Given the description of an element on the screen output the (x, y) to click on. 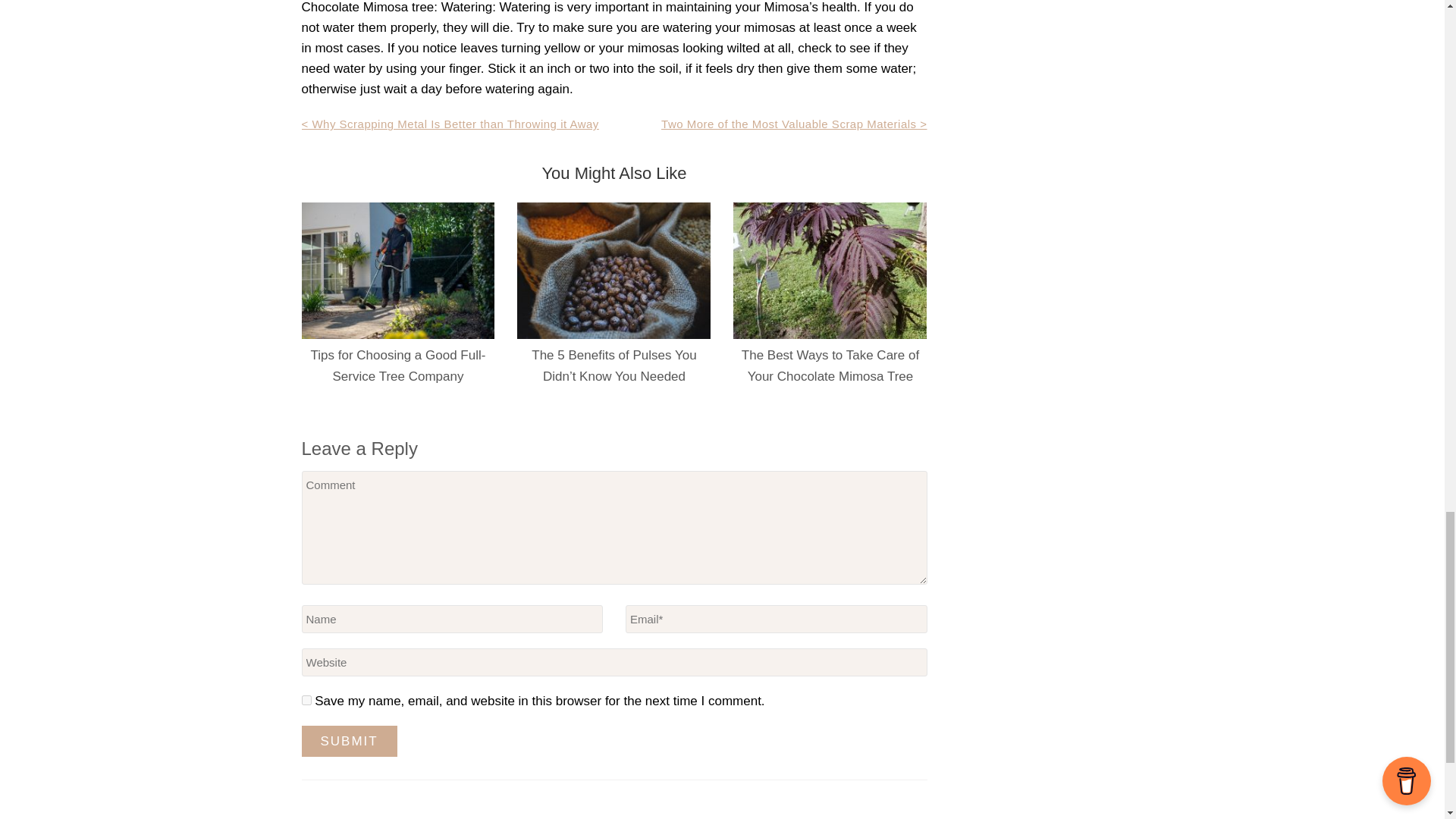
Tips for Choosing a Good Full-Service Tree Company (398, 366)
yes (306, 700)
Submit (349, 740)
The Best Ways to Take Care of Your Chocolate Mimosa Tree (829, 366)
Submit (349, 740)
